Given the description of an element on the screen output the (x, y) to click on. 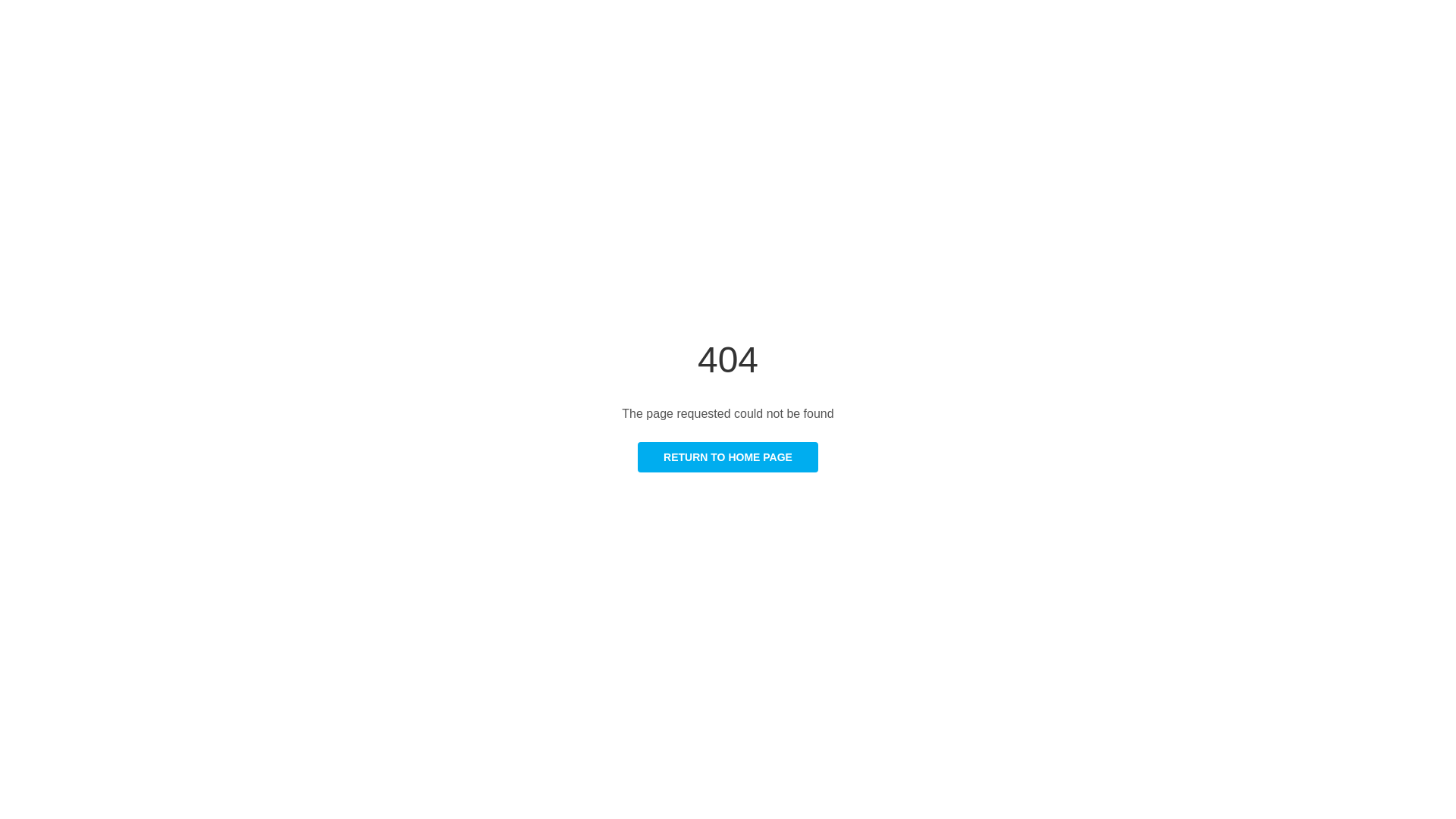
RETURN TO HOME PAGE Element type: text (727, 457)
